Given the description of an element on the screen output the (x, y) to click on. 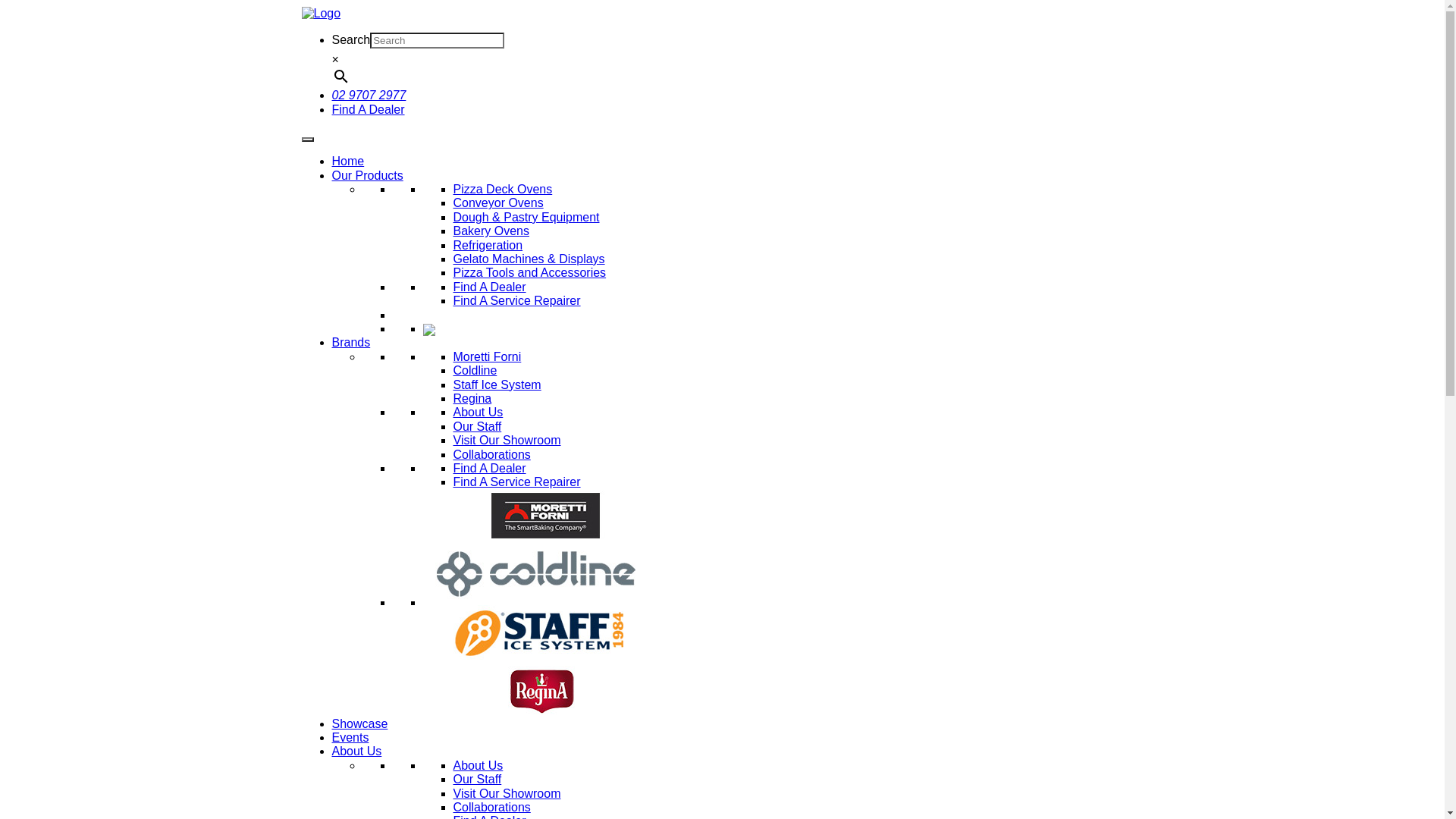
Home Element type: text (348, 160)
Bakery Ovens Element type: text (491, 230)
Visit Our Showroom Element type: text (507, 793)
Find A Service Repairer Element type: text (516, 481)
Brands Element type: text (351, 341)
Find A Service Repairer Element type: text (516, 300)
Collaborations Element type: text (491, 453)
About Us Element type: text (478, 411)
Gelato Machines & Displays Element type: text (529, 258)
Refrigeration Element type: text (488, 244)
Showcase Element type: text (360, 723)
Dough & Pastry Equipment Element type: text (526, 216)
Moretti Forni Element type: text (487, 356)
Our Staff Element type: text (477, 778)
Conveyor Ovens Element type: text (498, 202)
About Us Element type: text (357, 750)
Visit Our Showroom Element type: text (507, 439)
About Us Element type: text (478, 765)
Pizza Deck Ovens Element type: text (502, 188)
Find A Dealer Element type: text (489, 467)
Coldline Element type: text (475, 370)
Collaborations Element type: text (491, 806)
Pizza Tools and Accessories Element type: text (529, 272)
Find A Dealer Element type: text (489, 286)
Staff Ice System Element type: text (497, 384)
Our Products Element type: text (367, 175)
Events Element type: text (350, 737)
Regina Element type: text (472, 398)
Find A Dealer Element type: text (368, 109)
Our Staff Element type: text (477, 426)
02 9707 2977 Element type: text (369, 94)
